Given the description of an element on the screen output the (x, y) to click on. 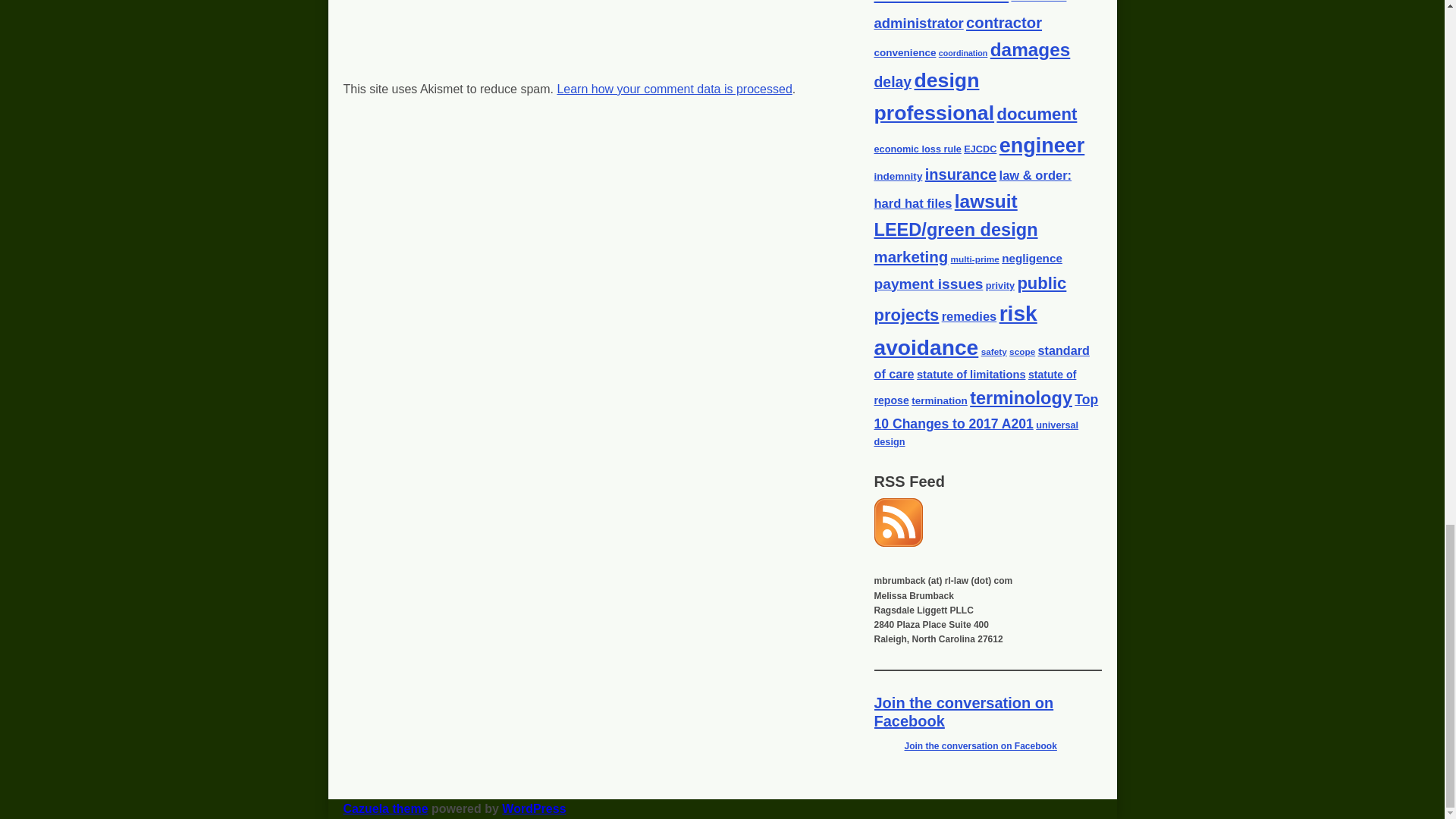
Learn how your comment data is processed (674, 88)
